Given the description of an element on the screen output the (x, y) to click on. 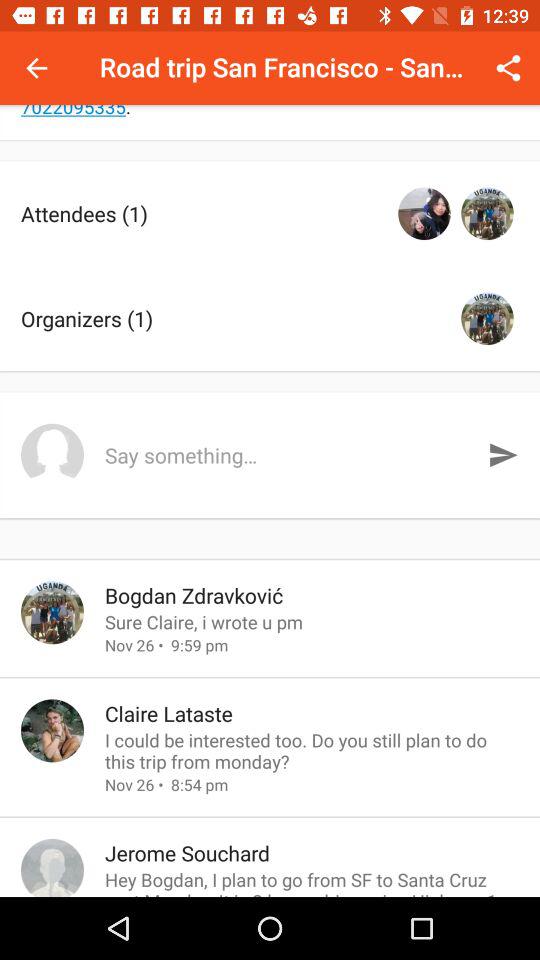
go to previous page (36, 68)
